Given the description of an element on the screen output the (x, y) to click on. 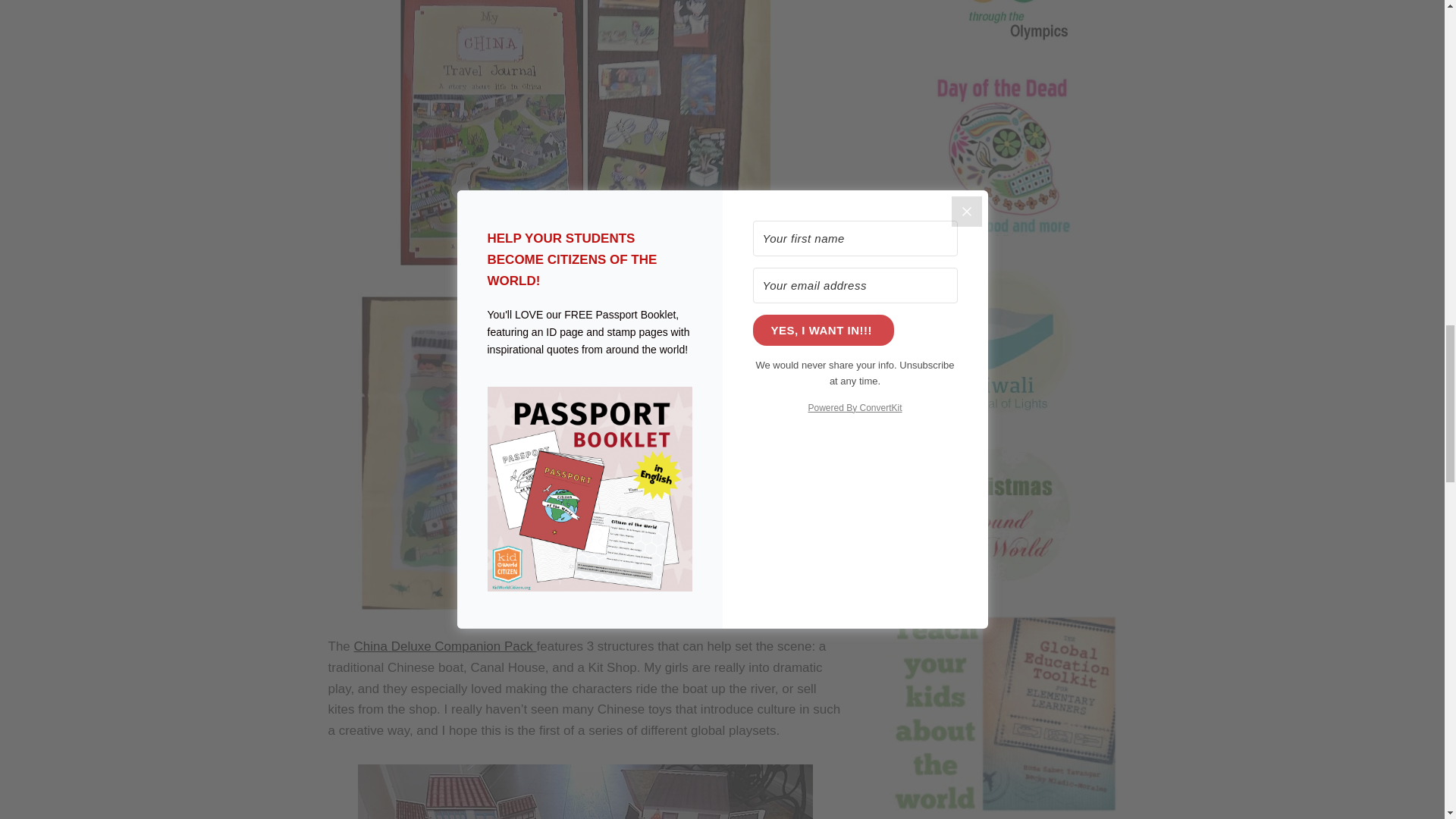
China Deluxe Companion Pack (445, 646)
